Given the description of an element on the screen output the (x, y) to click on. 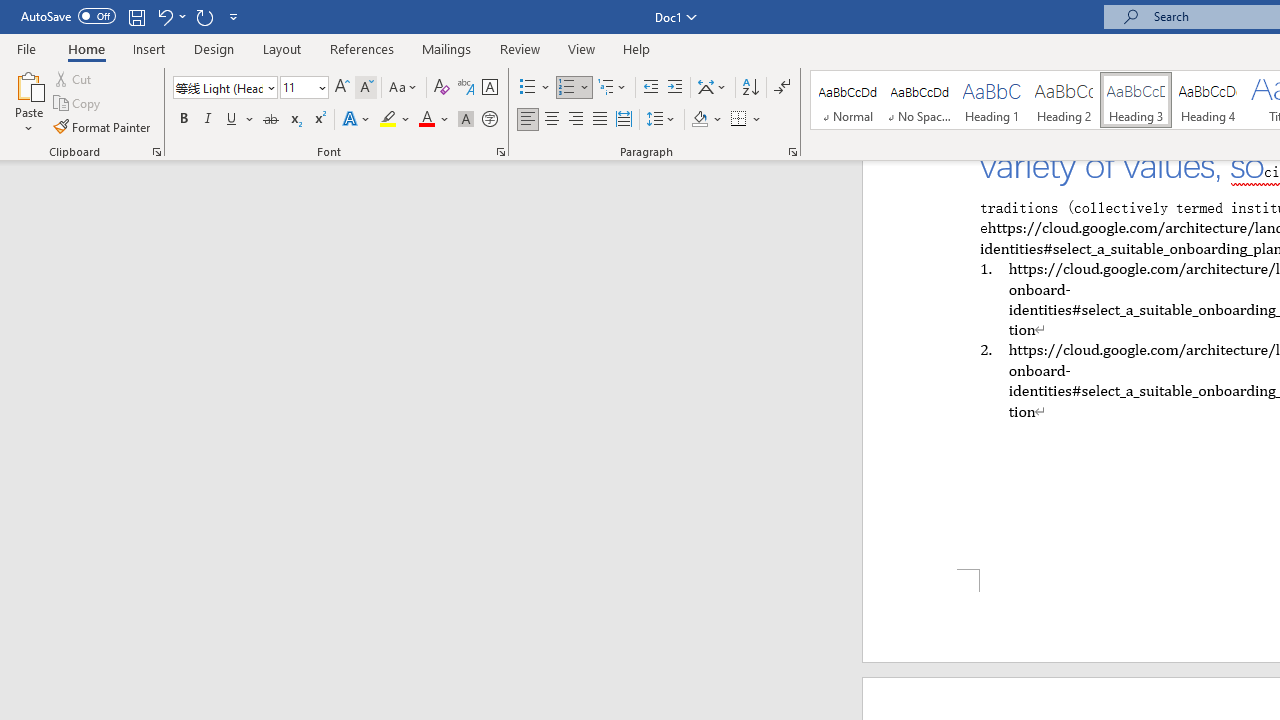
Change Case (404, 87)
Subscript (294, 119)
Enclose Characters... (489, 119)
Paragraph... (792, 151)
Text Highlight Color Yellow (388, 119)
Decrease Indent (650, 87)
Office Clipboard... (156, 151)
Bold (183, 119)
Grow Font (342, 87)
